Given the description of an element on the screen output the (x, y) to click on. 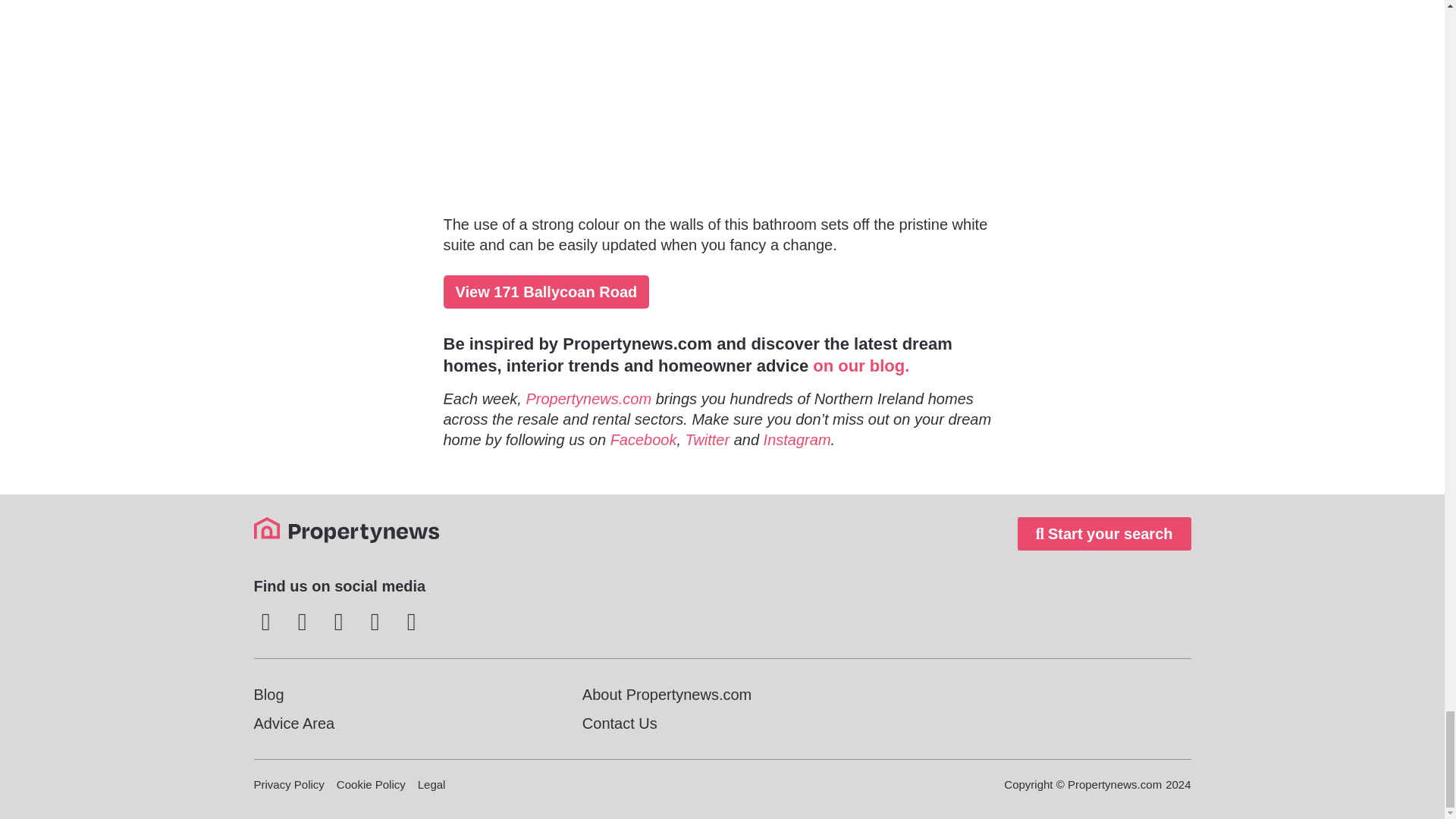
Twitter (707, 439)
Instagram (796, 439)
View 171 Ballycoan Road (545, 291)
Facebook (643, 439)
Propertynews.com (587, 398)
on our blog. (860, 365)
